Given the description of an element on the screen output the (x, y) to click on. 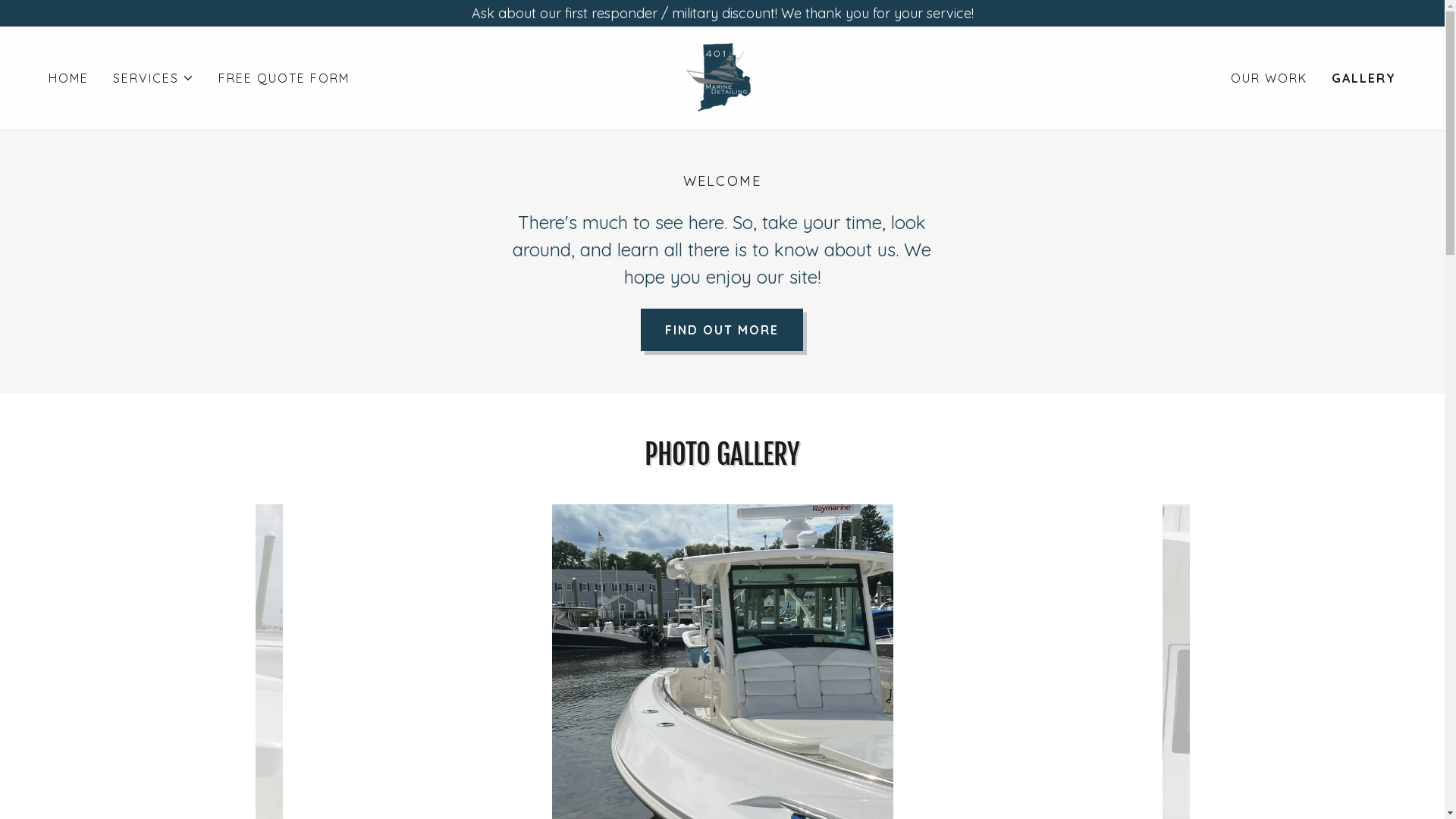
OUR WORK Element type: text (1268, 77)
401 Marine Detailing Element type: hover (721, 76)
FIND OUT MORE Element type: text (721, 328)
SERVICES Element type: text (153, 78)
GALLERY Element type: text (1363, 78)
FREE QUOTE FORM Element type: text (283, 77)
HOME Element type: text (68, 77)
